Given the description of an element on the screen output the (x, y) to click on. 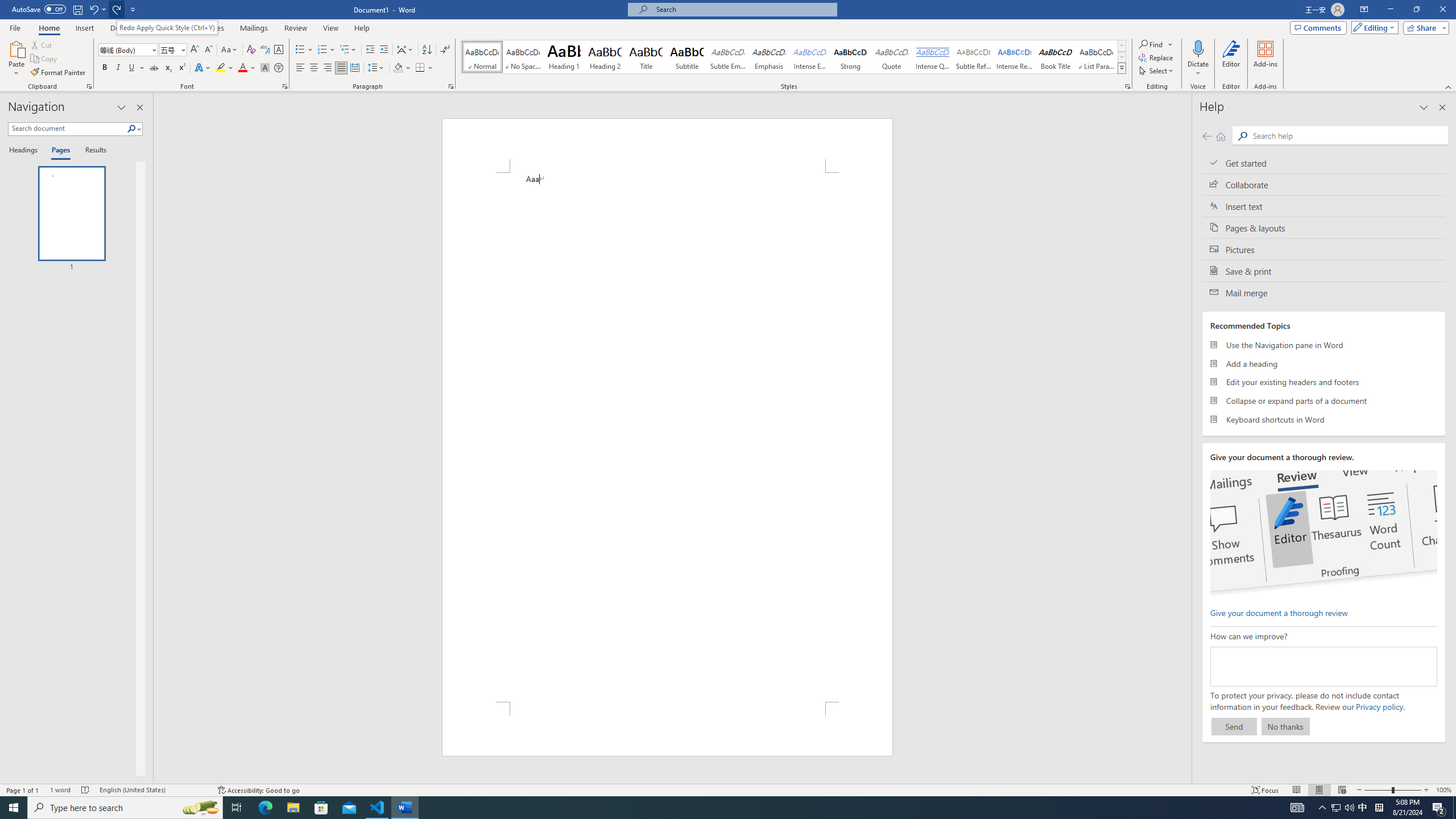
Pictures (1323, 249)
